Given the description of an element on the screen output the (x, y) to click on. 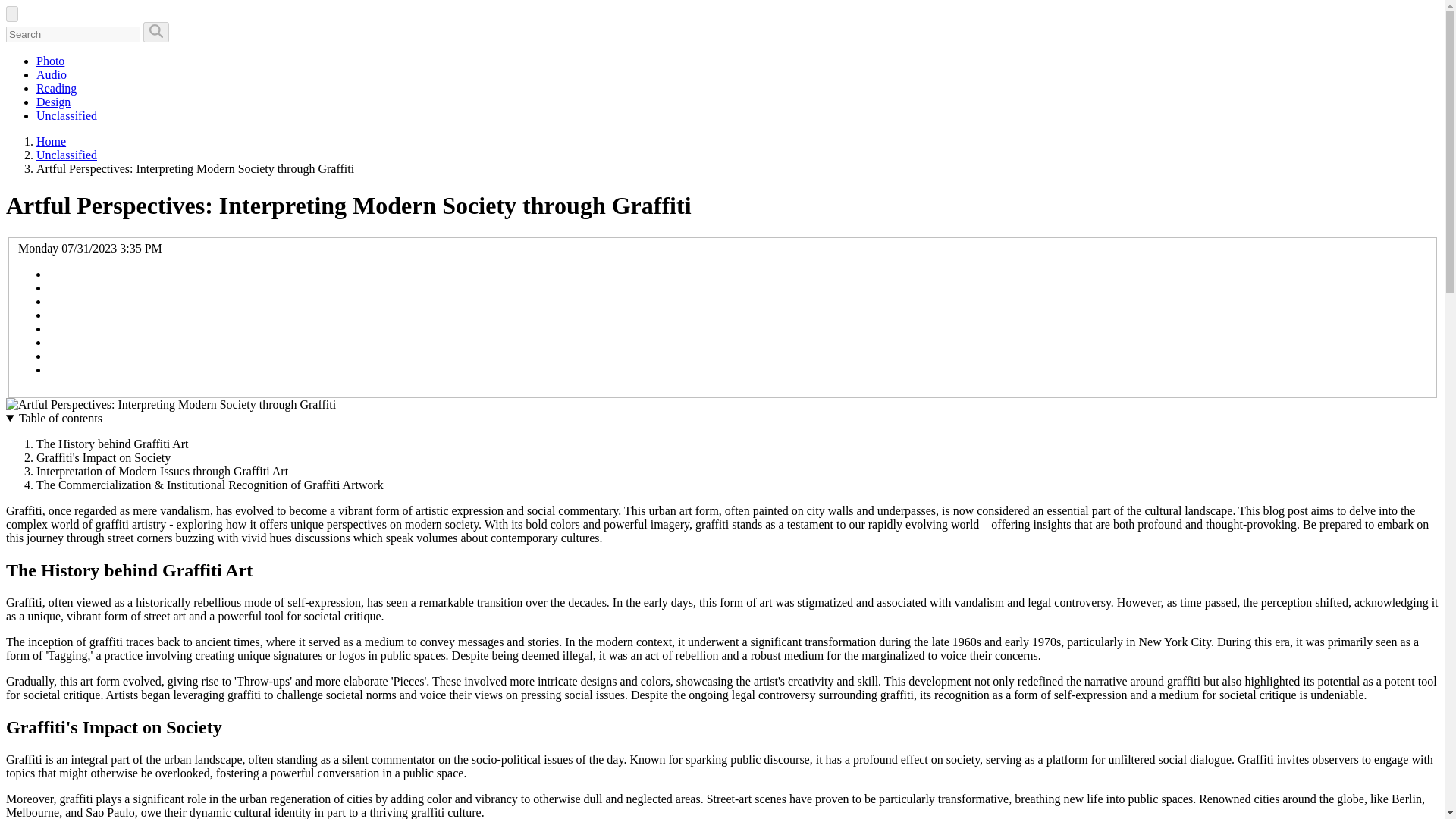
Home (50, 141)
Unclassified (66, 154)
Unclassified (66, 115)
Interpretation of Modern Issues through Graffiti Art (162, 471)
Photo (50, 60)
Reading (56, 88)
Graffiti's Impact on Society (103, 457)
Unclassified (66, 154)
Design (52, 101)
The History behind Graffiti Art (112, 443)
Audio (51, 74)
